Given the description of an element on the screen output the (x, y) to click on. 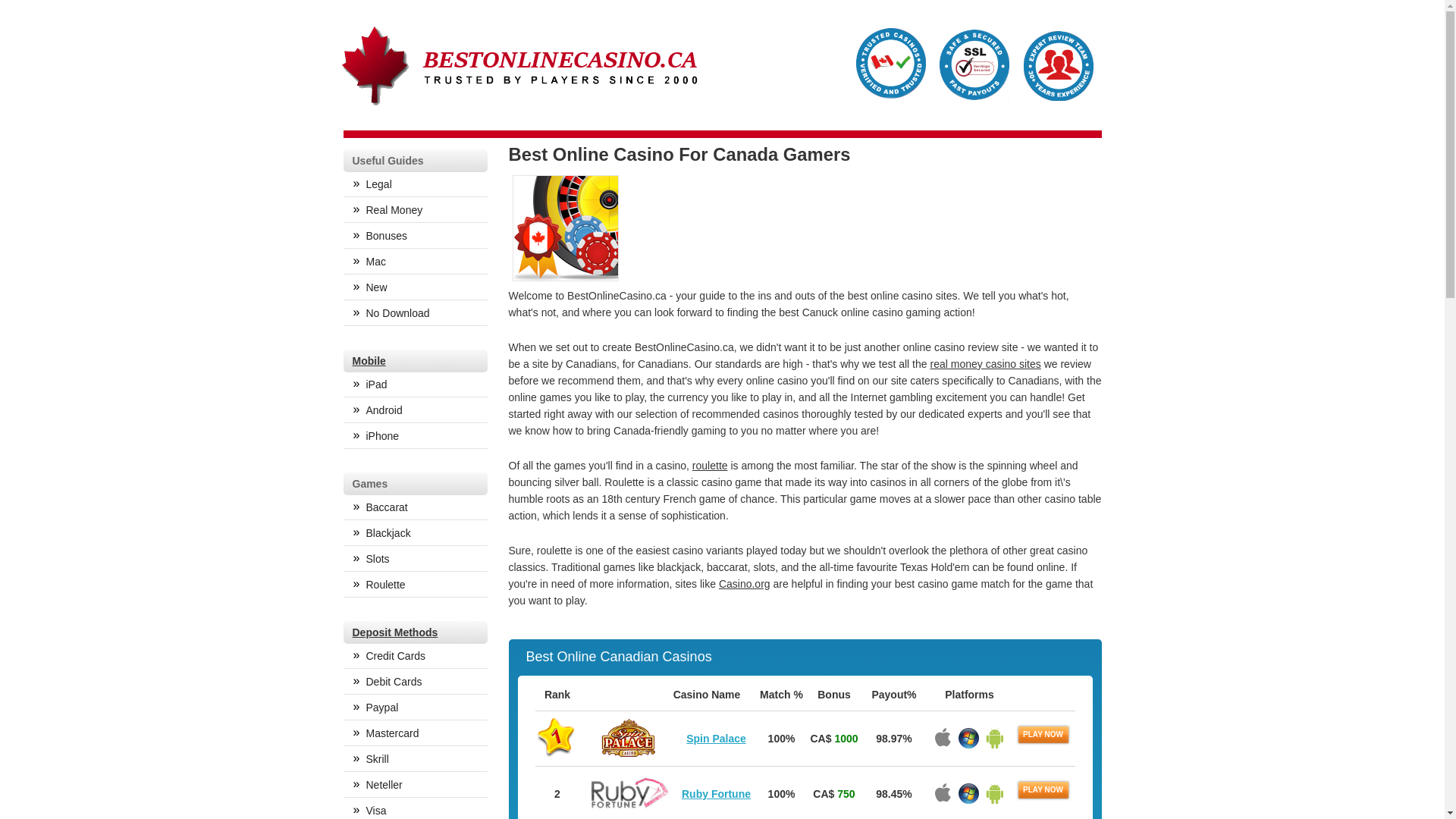
Debit Cards Element type: text (414, 681)
Neteller Element type: text (414, 784)
Android Element type: text (414, 410)
Credit Cards Element type: text (414, 655)
Casino.org Element type: text (744, 583)
New Element type: text (414, 287)
iPhone Element type: text (414, 435)
Legal Element type: text (414, 184)
Skrill Element type: text (414, 758)
Bonuses Element type: text (414, 235)
Spin Palace 100% CA$ 1000 98.97%
      PLAY NOW Element type: text (805, 738)
Slots Element type: text (414, 558)
roulette Element type: text (710, 465)
No Download Element type: text (414, 313)
real money casino sites Element type: text (984, 363)
Blackjack Element type: text (414, 533)
Baccarat Element type: text (414, 507)
Real Money Element type: text (414, 209)
Mac Element type: text (414, 261)
Deposit Methods Element type: text (394, 632)
Mastercard Element type: text (414, 733)
iPad Element type: text (414, 384)
Mobile Element type: text (368, 360)
Roulette Element type: text (414, 584)
Paypal Element type: text (414, 707)
